Given the description of an element on the screen output the (x, y) to click on. 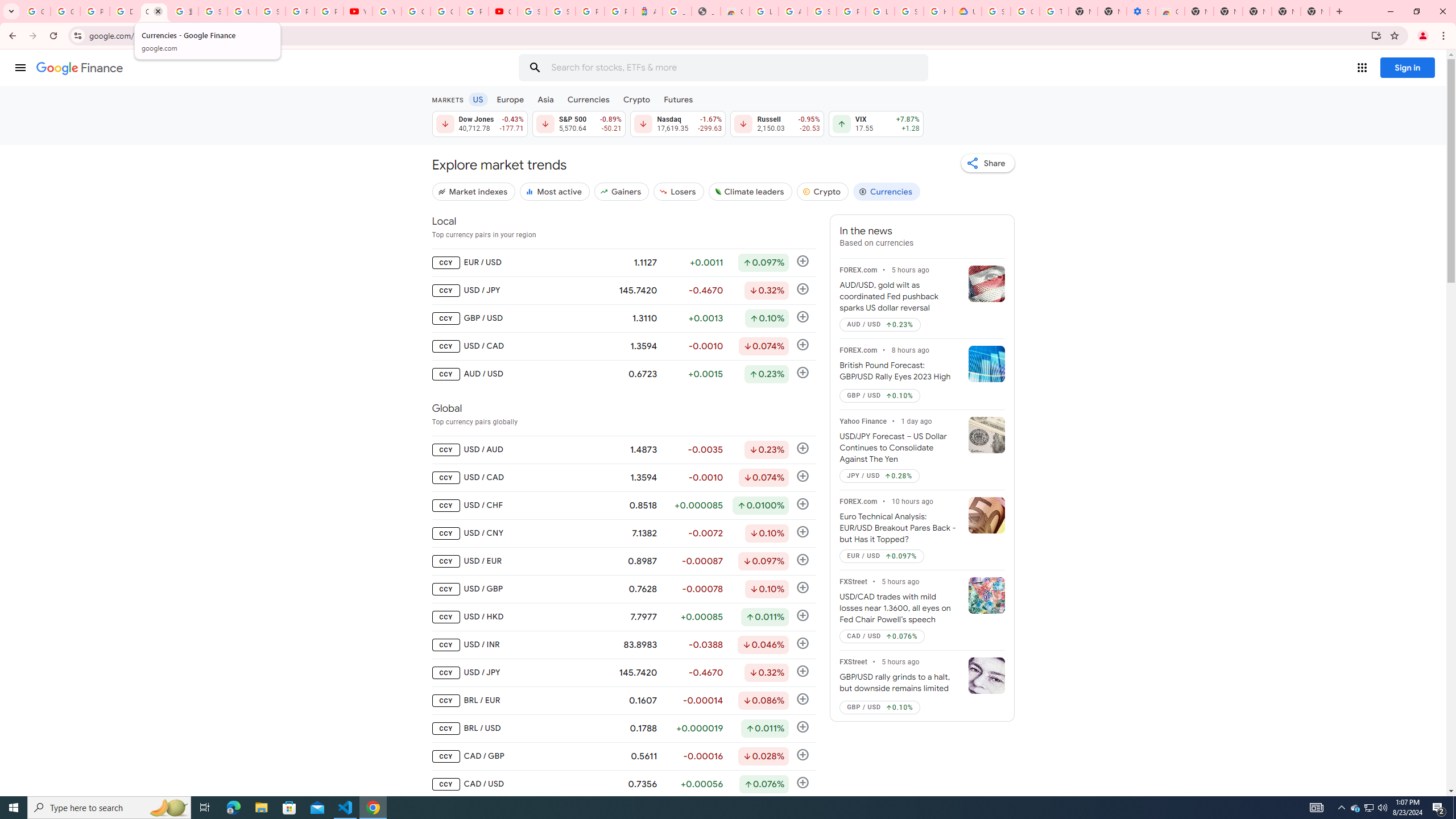
Sign in - Google Accounts (271, 11)
Europe (510, 99)
CCY BRL / EUR 0.1607 -0.00014 Down by 0.069% Follow (623, 700)
Gainers (621, 191)
CCY CAD / USD 0.7356 +0.00056 Up by 0.074% Follow (623, 784)
Sign in - Google Accounts (212, 11)
Futures (678, 99)
